Given the description of an element on the screen output the (x, y) to click on. 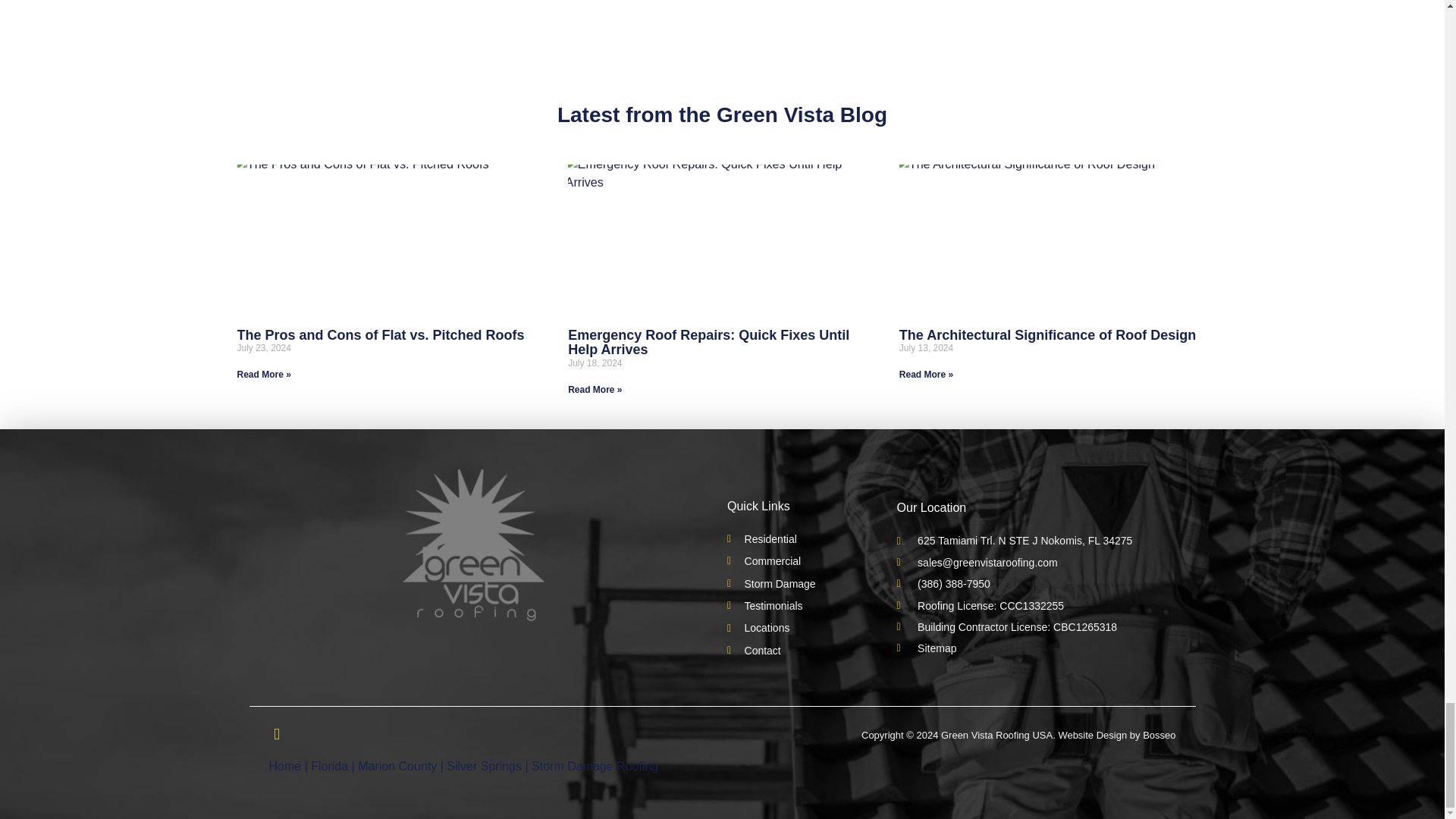
Storm Damage Roofing 10 (1050, 238)
Storm Damage Roofing 8 (388, 238)
Storm Damage Roofing 9 (720, 238)
